Given the description of an element on the screen output the (x, y) to click on. 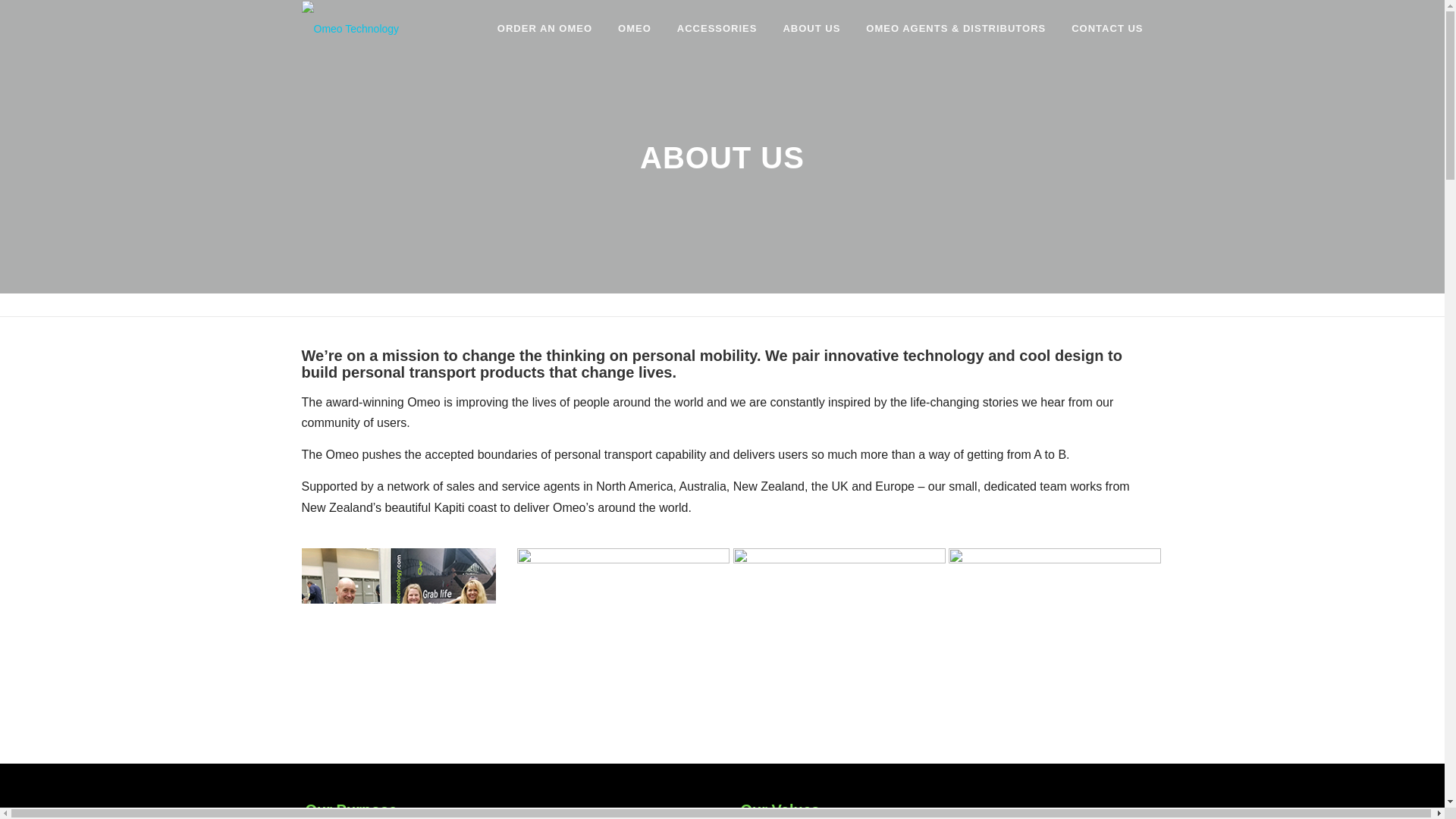
ORDER AN OMEO (544, 28)
ACCESSORIES (716, 28)
OMEO (634, 28)
ABOUT US (811, 28)
CONTACT US (1100, 28)
